Given the description of an element on the screen output the (x, y) to click on. 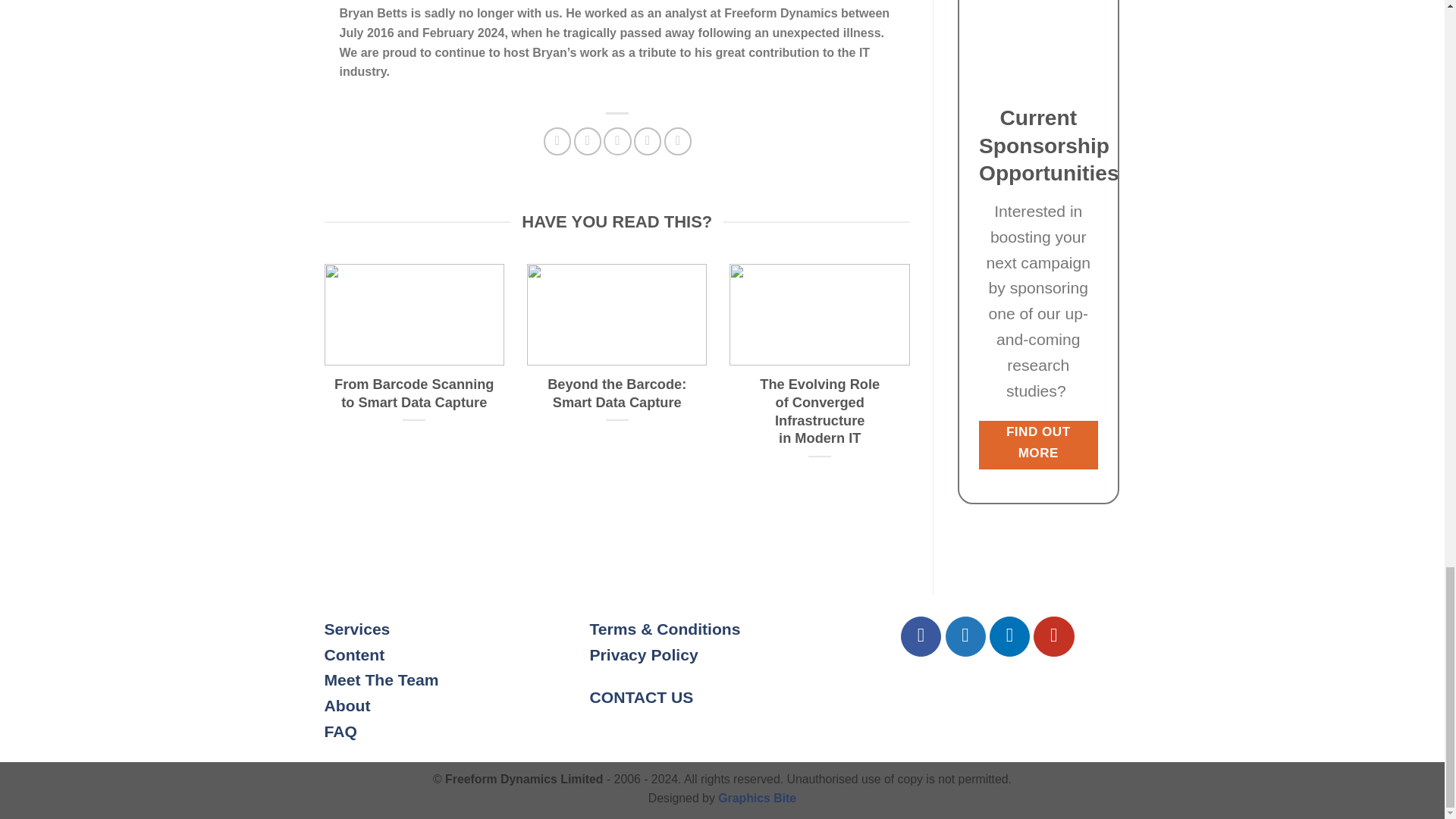
Email to a Friend (617, 140)
Share on LinkedIn (677, 140)
Follow on Facebook (920, 636)
Share on Twitter (587, 140)
Pin on Pinterest (647, 140)
Share on Facebook (556, 140)
